Given the description of an element on the screen output the (x, y) to click on. 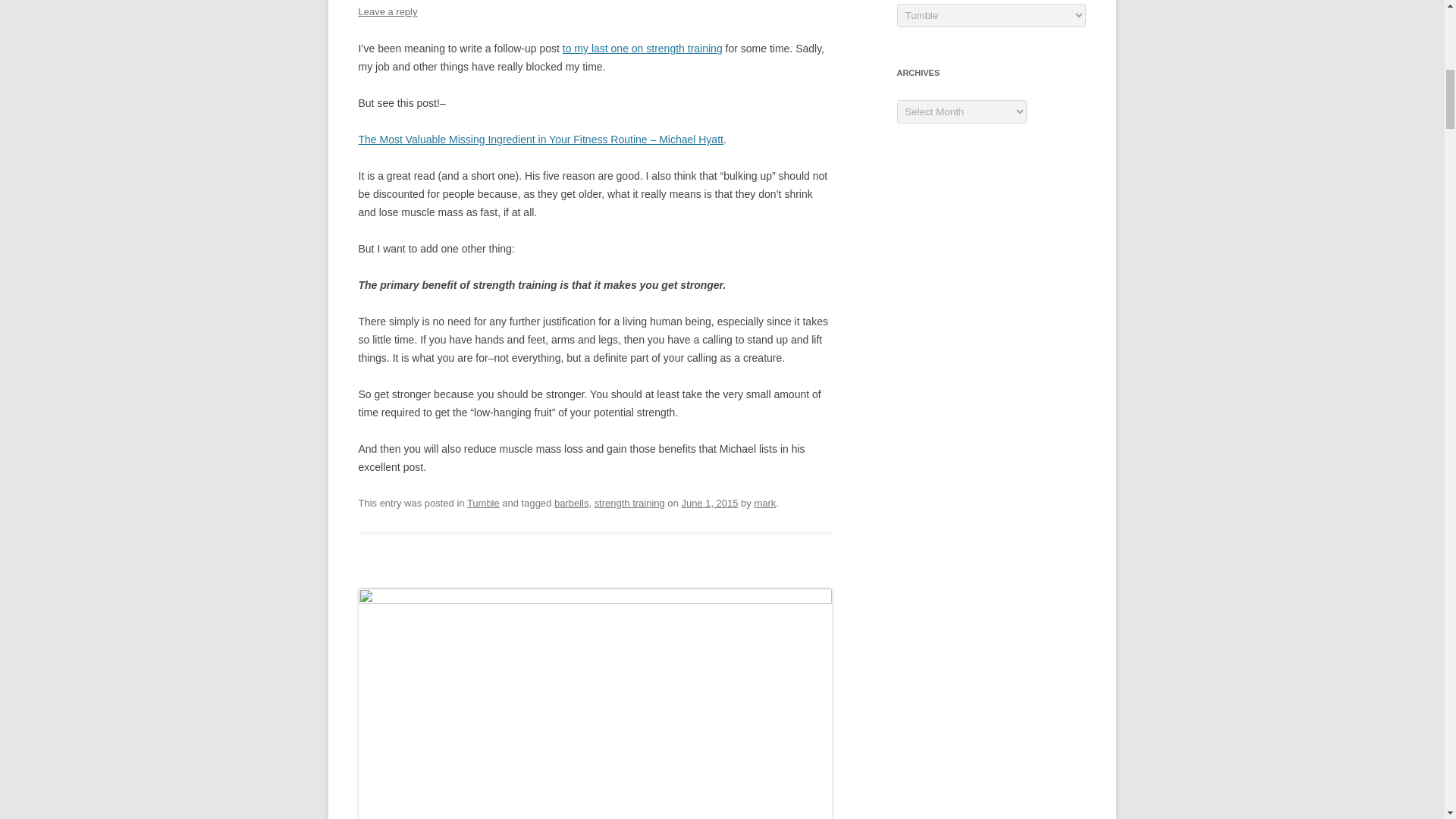
Leave a reply (387, 11)
June 1, 2015 (709, 502)
strength training (629, 502)
5:25 pm (709, 502)
barbells (571, 502)
Tumble (483, 502)
to my last one on strength training (642, 48)
View all posts by mark (765, 502)
mark (765, 502)
